Given the description of an element on the screen output the (x, y) to click on. 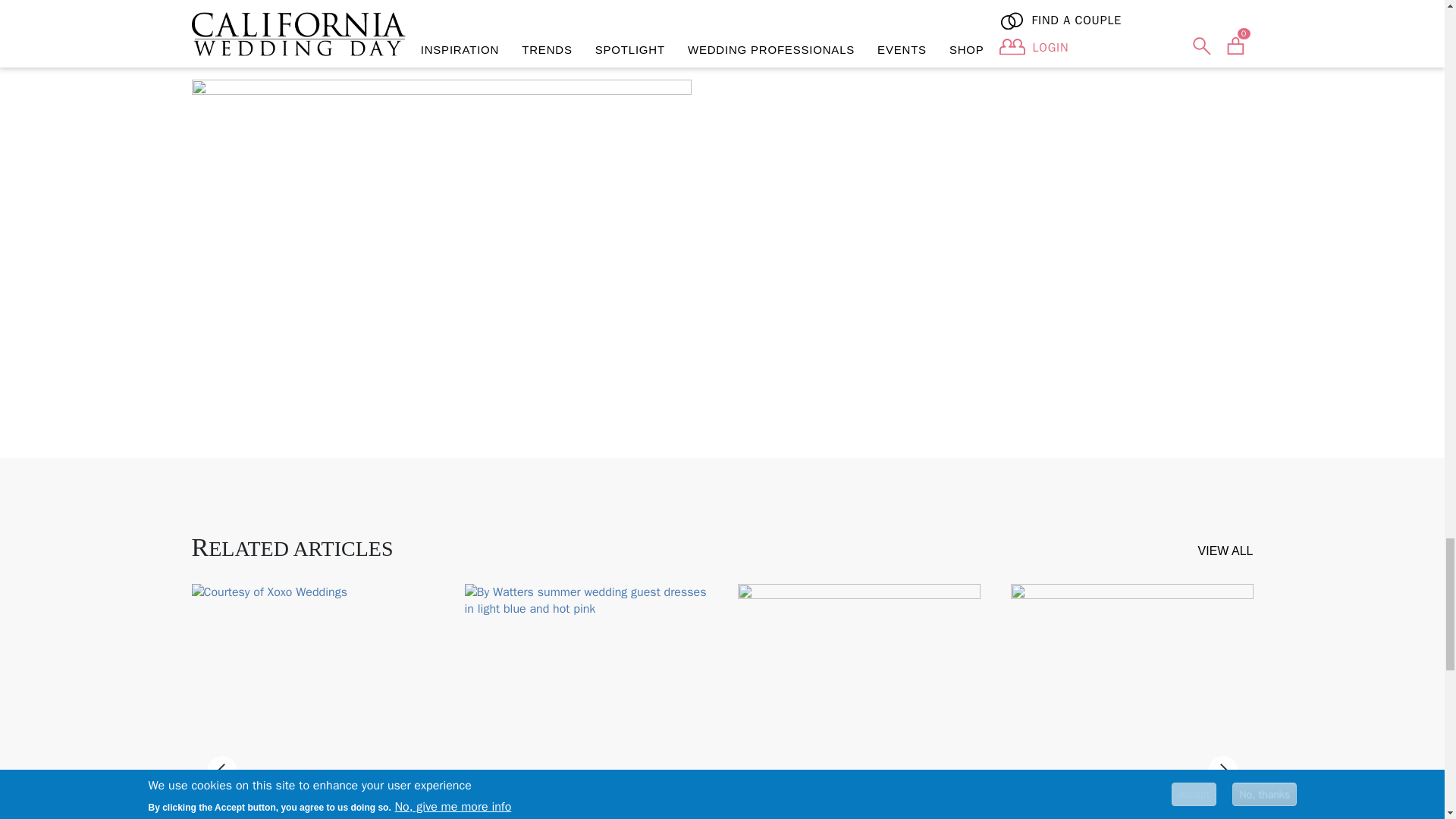
VIEW ALL (1225, 550)
Courtesy of Xoxo Weddings (311, 701)
Summer Wedding Guest Dresses from By Watters (585, 701)
